Given the description of an element on the screen output the (x, y) to click on. 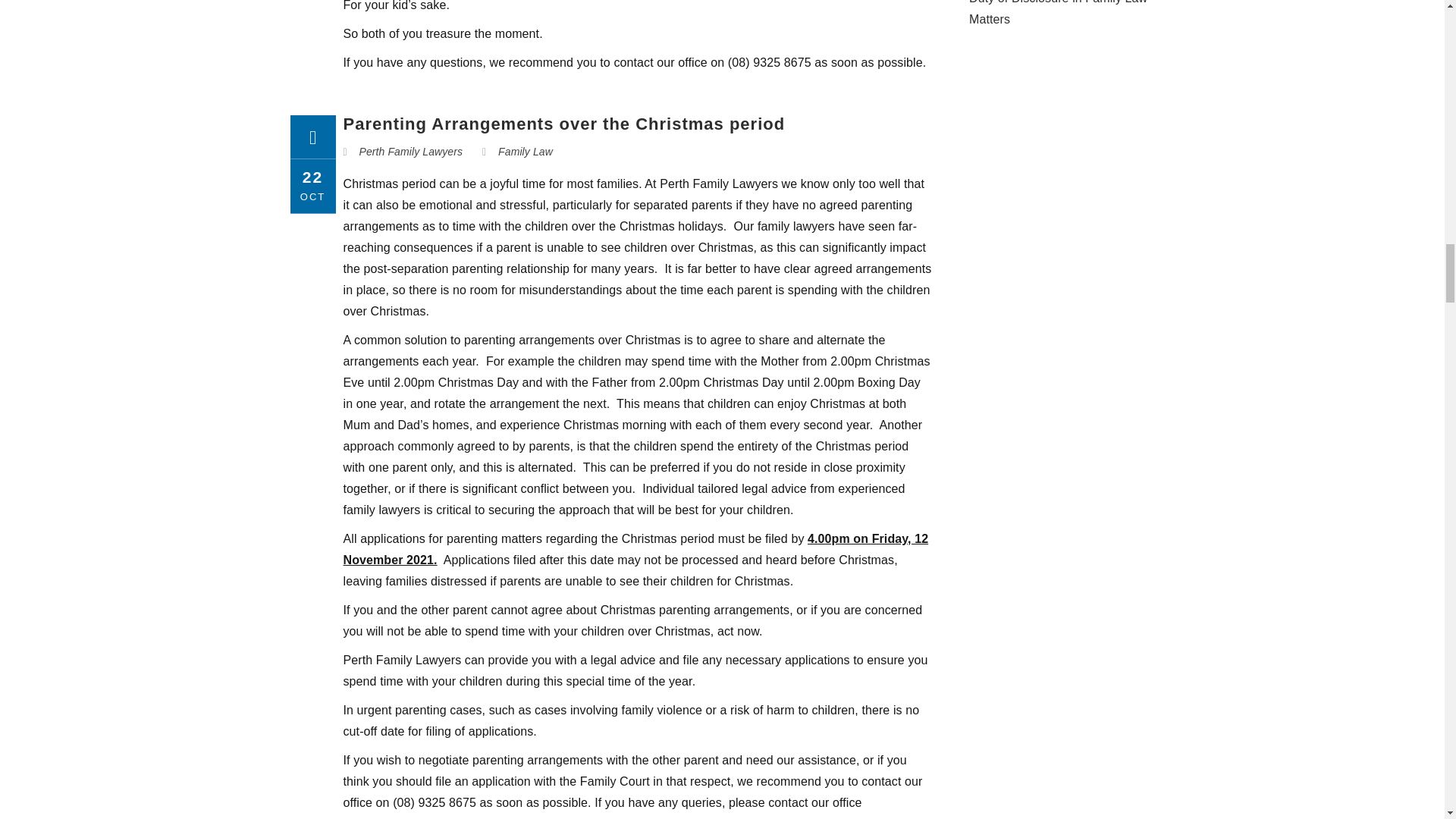
View all posts by Perth Family Lawyers (411, 151)
